Given the description of an element on the screen output the (x, y) to click on. 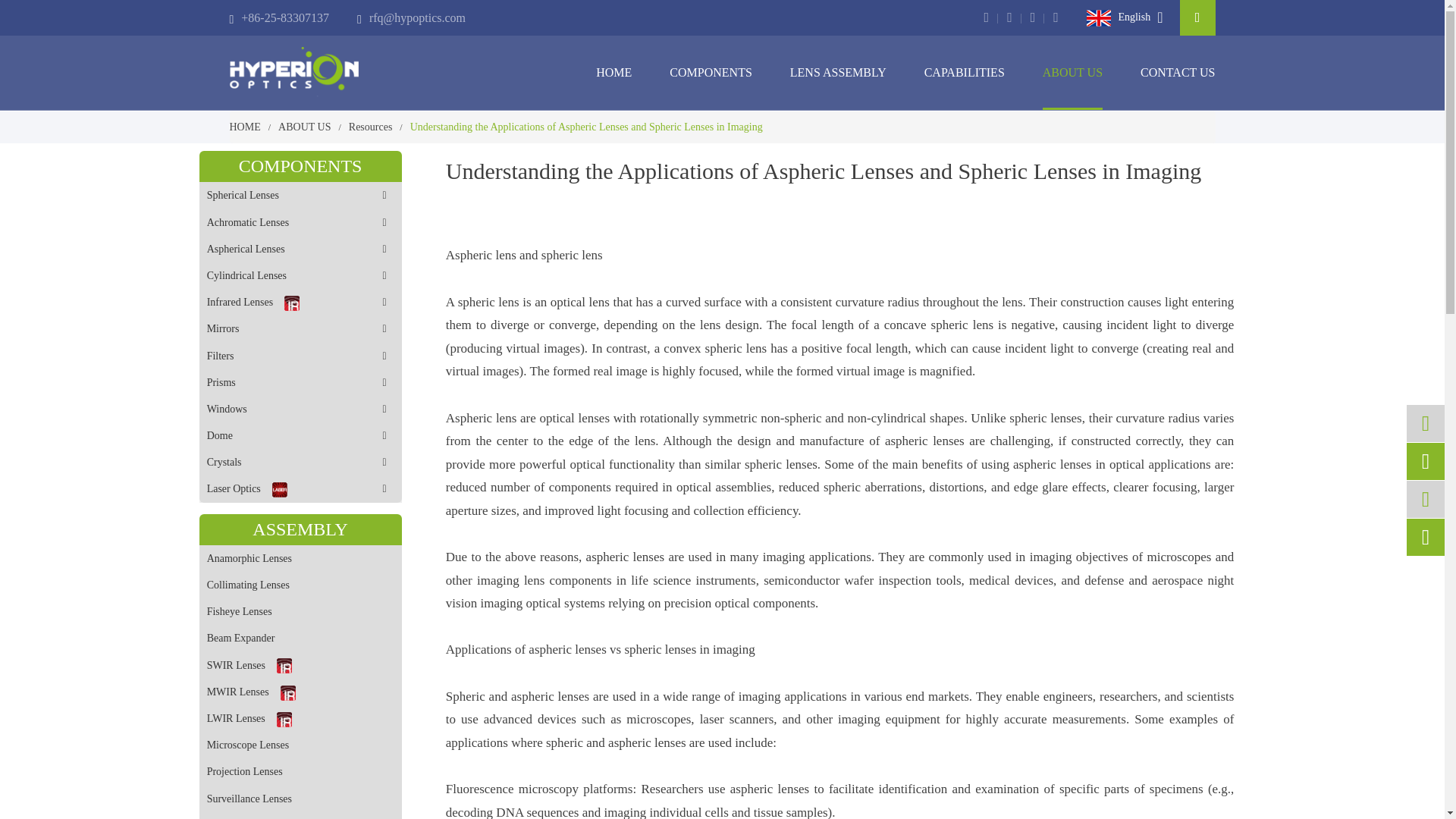
LENS ASSEMBLY (838, 72)
English (1118, 17)
COMPONENTS (710, 72)
Resources (371, 126)
ABOUT US (304, 126)
